Given the description of an element on the screen output the (x, y) to click on. 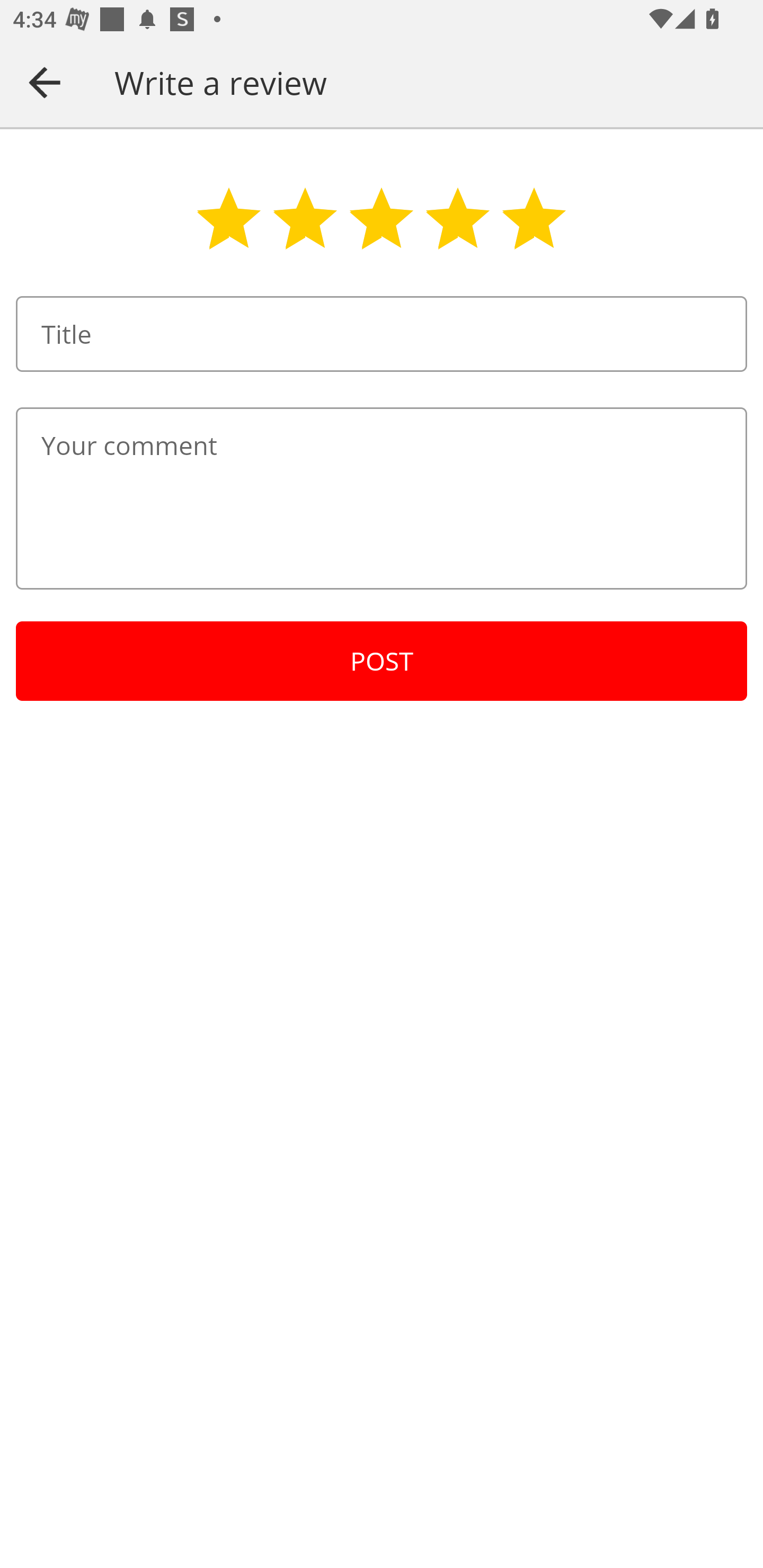
Navigate up (44, 82)
Title (381, 333)
Your comment (381, 498)
POST (381, 660)
